Given the description of an element on the screen output the (x, y) to click on. 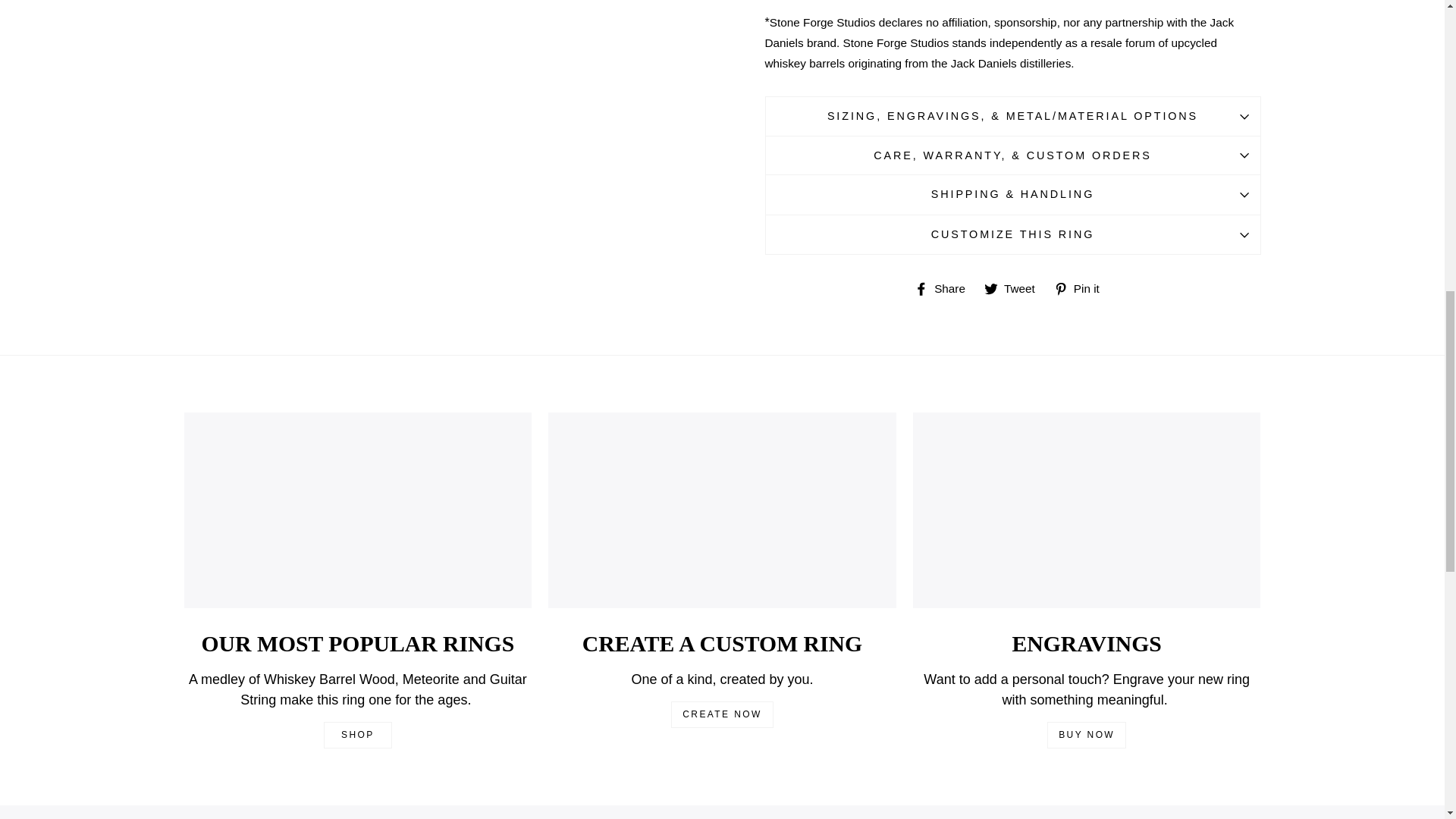
Tweet on Twitter (1015, 287)
Pin on Pinterest (1082, 287)
Share on Facebook (945, 287)
